Given the description of an element on the screen output the (x, y) to click on. 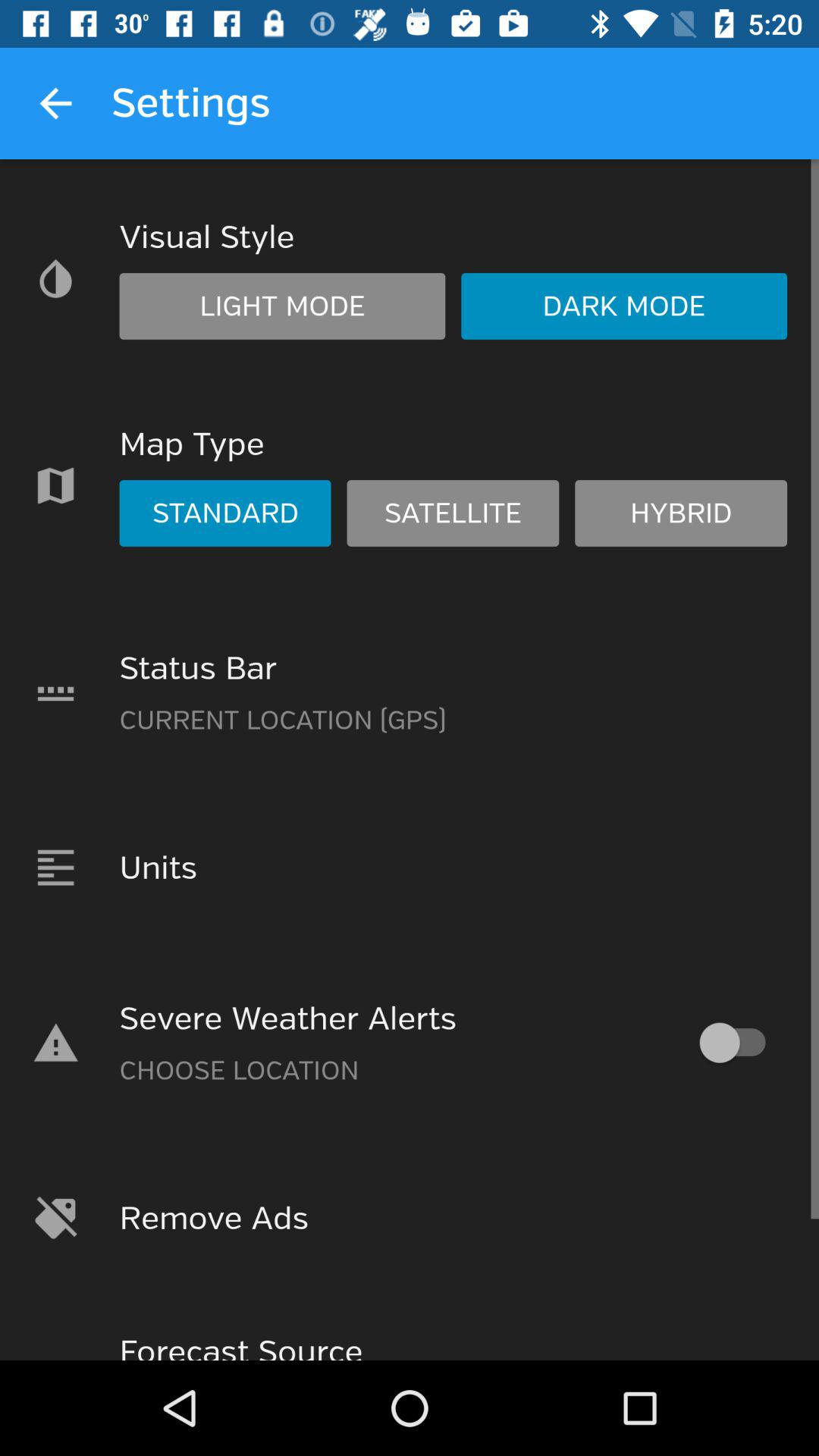
click on light mode (282, 306)
select hybrid in map type (680, 513)
option below status bar option (409, 867)
the icon left to visual style (55, 278)
select the onoff icon beside severe weather alerts (739, 1043)
